Given the description of an element on the screen output the (x, y) to click on. 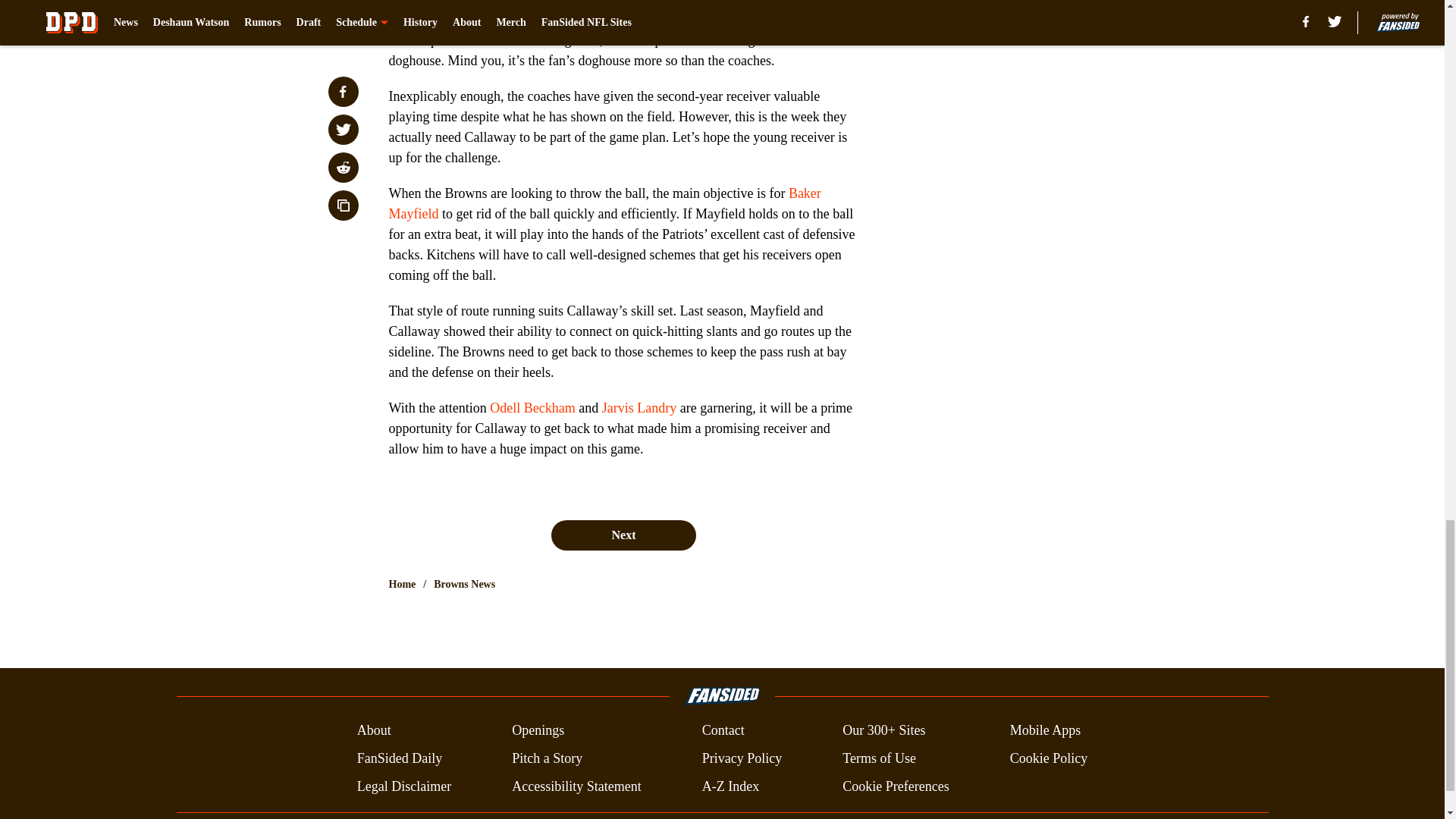
Baker Mayfield (604, 203)
Odell Beckham (532, 407)
Terms of Use (879, 758)
Openings (538, 730)
Antonio Callaway (437, 19)
FanSided Daily (399, 758)
Home (401, 584)
Contact (722, 730)
Browns News (464, 584)
Jarvis Landry (639, 407)
